Given the description of an element on the screen output the (x, y) to click on. 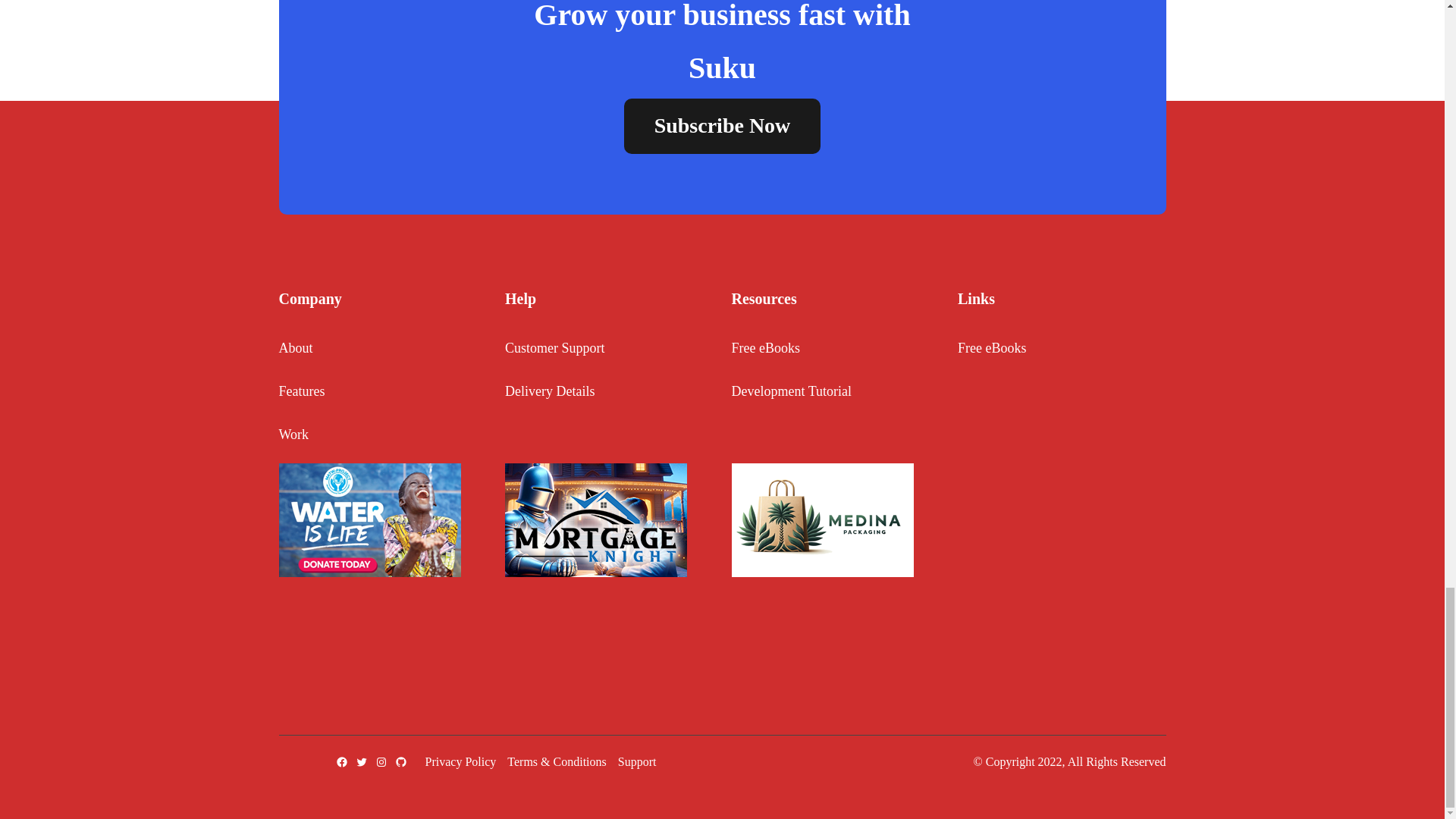
Subscribe Now (721, 125)
Instagram (381, 761)
Customer Support (555, 348)
Development Tutorial (790, 391)
GitHub (400, 761)
Free eBooks (764, 348)
Support (636, 762)
Facebook (341, 761)
About (296, 348)
Privacy Policy (460, 762)
